Given the description of an element on the screen output the (x, y) to click on. 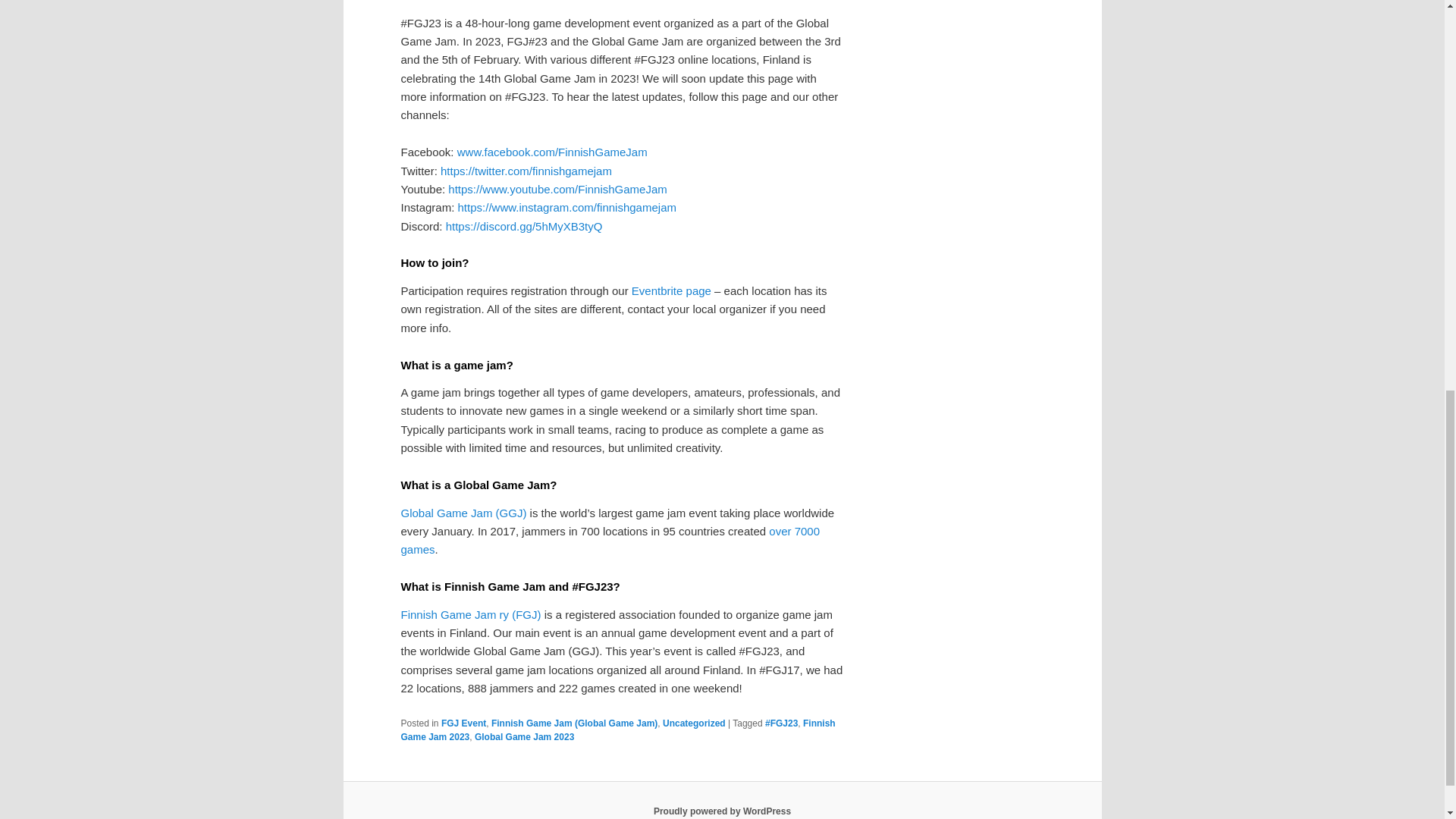
Semantic Personal Publishing Platform (721, 810)
Global Game Jam 2023 (523, 737)
Uncategorized (693, 723)
FGJ Event (463, 723)
Finnish Game Jam 2023 (617, 730)
over 7000 games (609, 540)
Proudly powered by WordPress (721, 810)
Eventbrite page (671, 290)
